Given the description of an element on the screen output the (x, y) to click on. 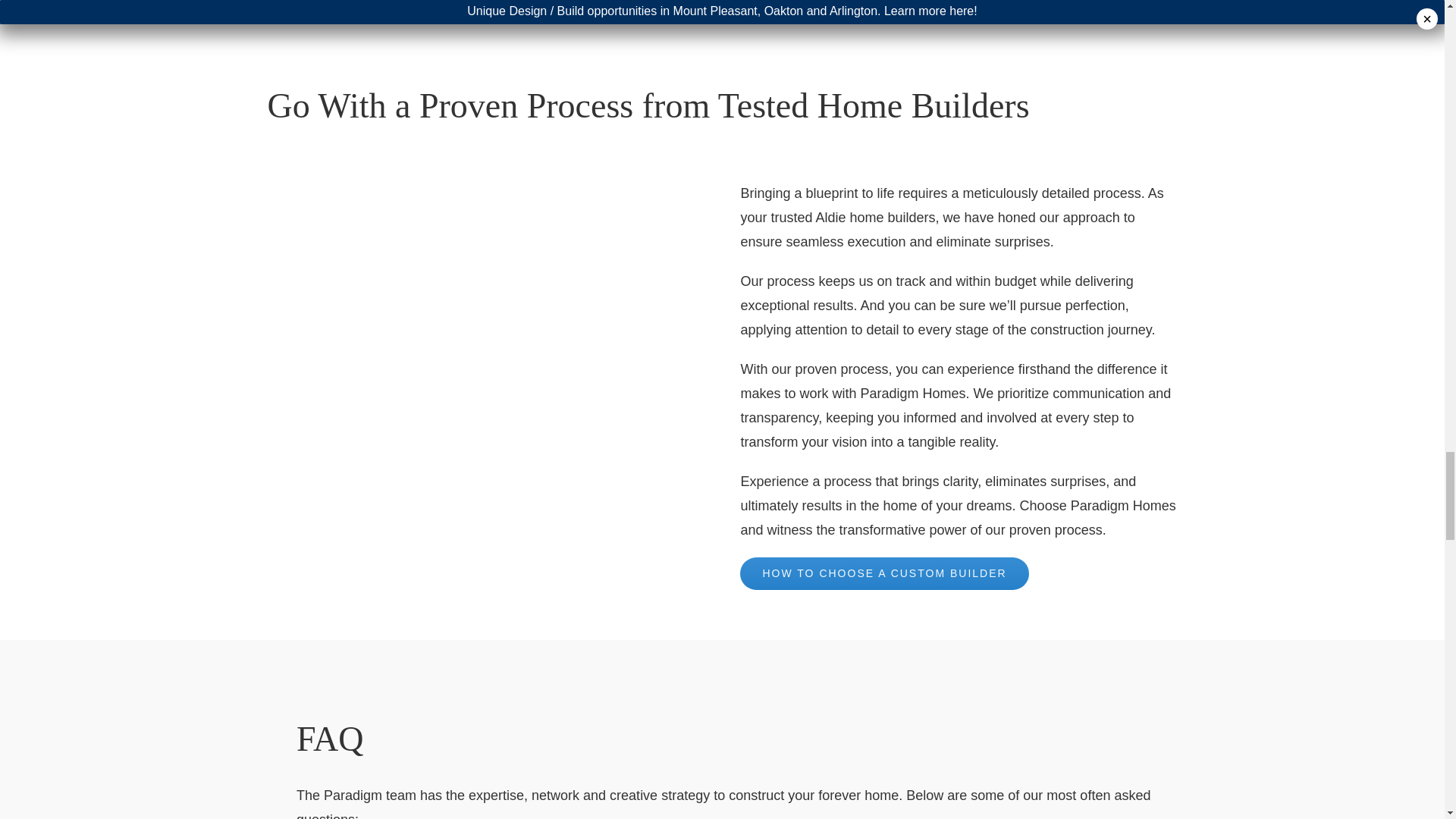
banner-11 (484, 297)
